Given the description of an element on the screen output the (x, y) to click on. 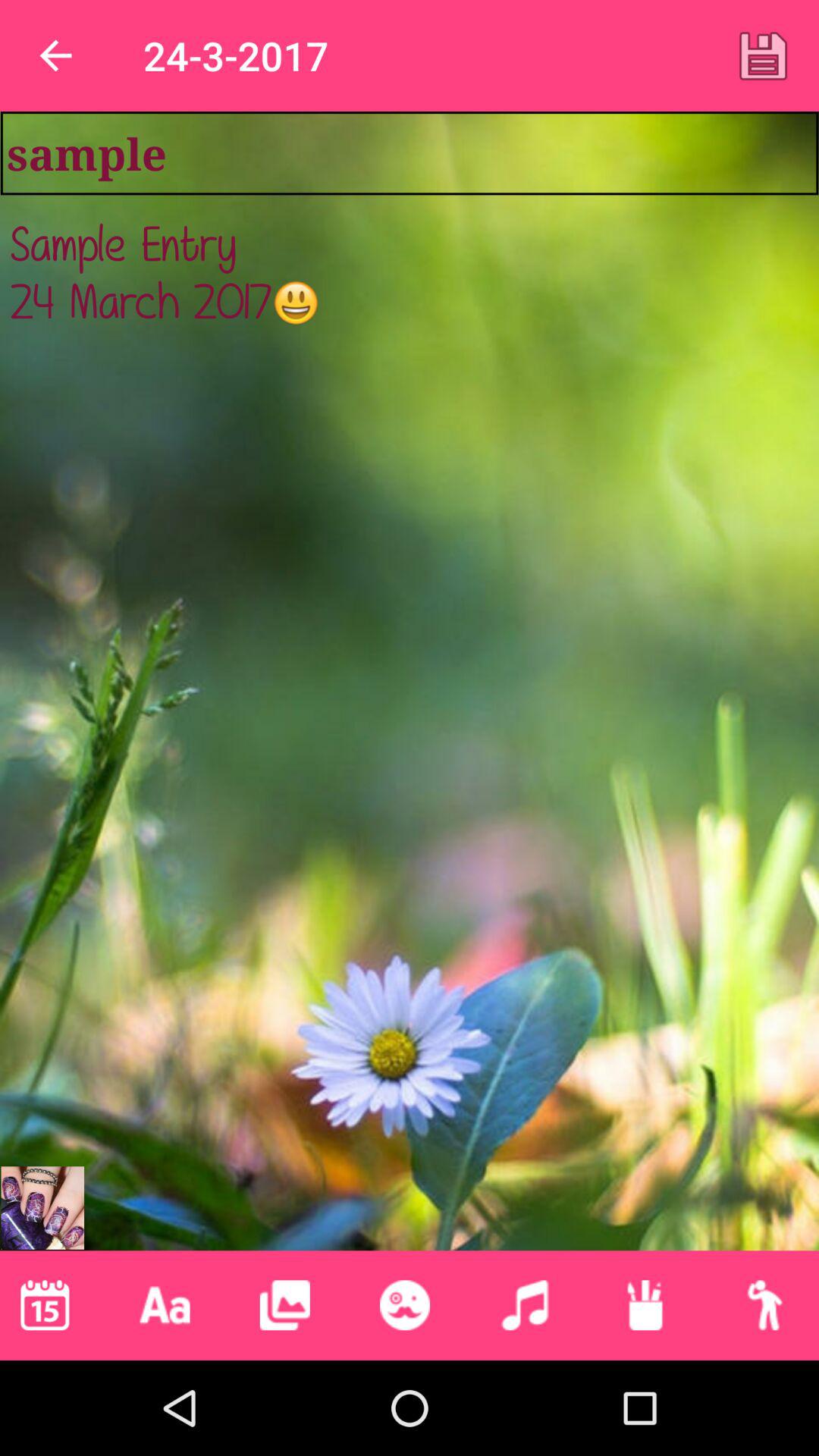
emoji selection (404, 1305)
